Given the description of an element on the screen output the (x, y) to click on. 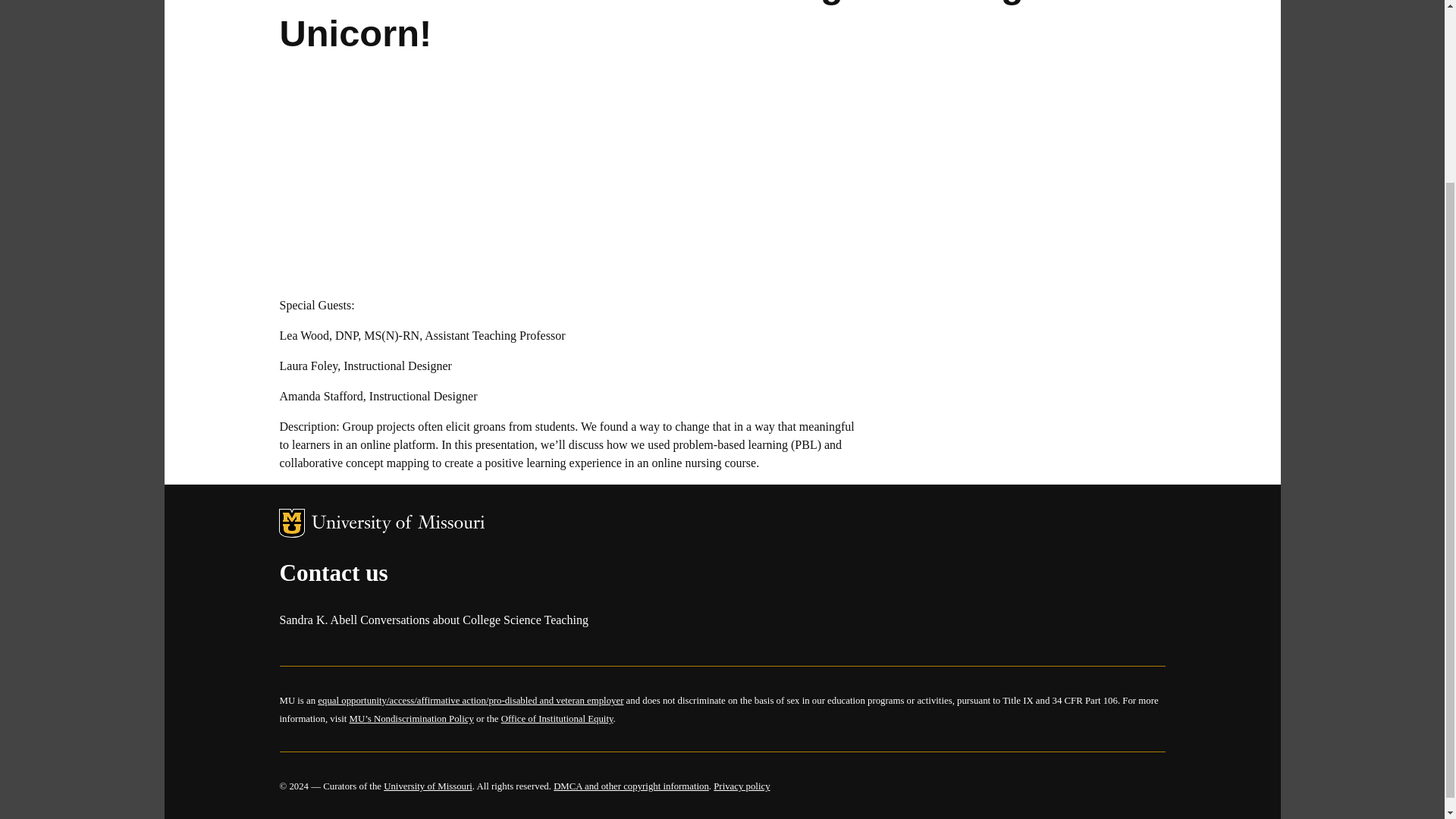
University of Missouri (427, 786)
Privacy policy (741, 786)
University of Missouri (397, 524)
Office of Institutional Equity (556, 718)
DMCA and other copyright information (631, 786)
Online Problem-Based Learning: We Caught a Unicorn! (468, 172)
MU Logo (291, 522)
